Given the description of an element on the screen output the (x, y) to click on. 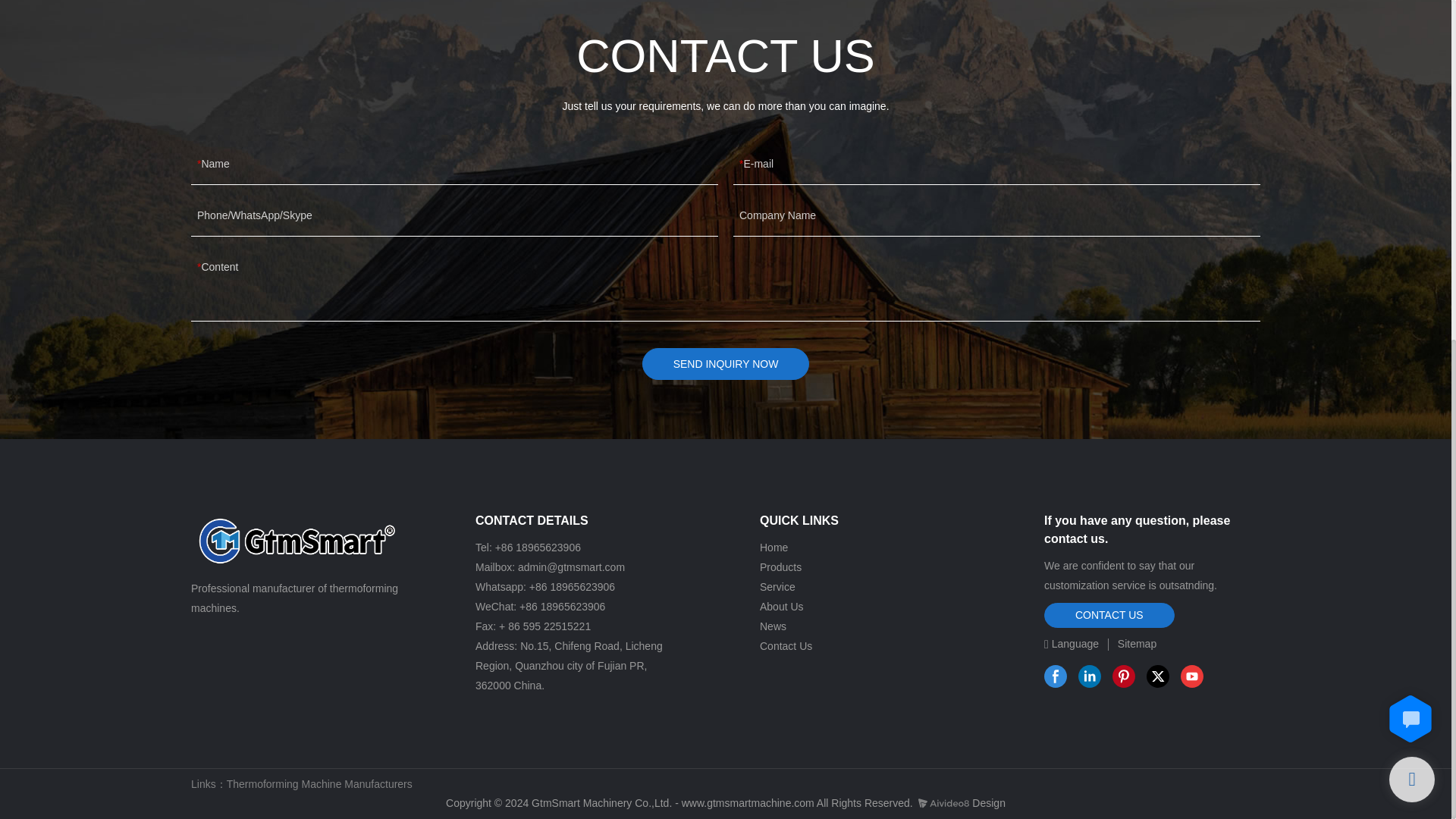
SEND INQUIRY NOW (725, 364)
